Given the description of an element on the screen output the (x, y) to click on. 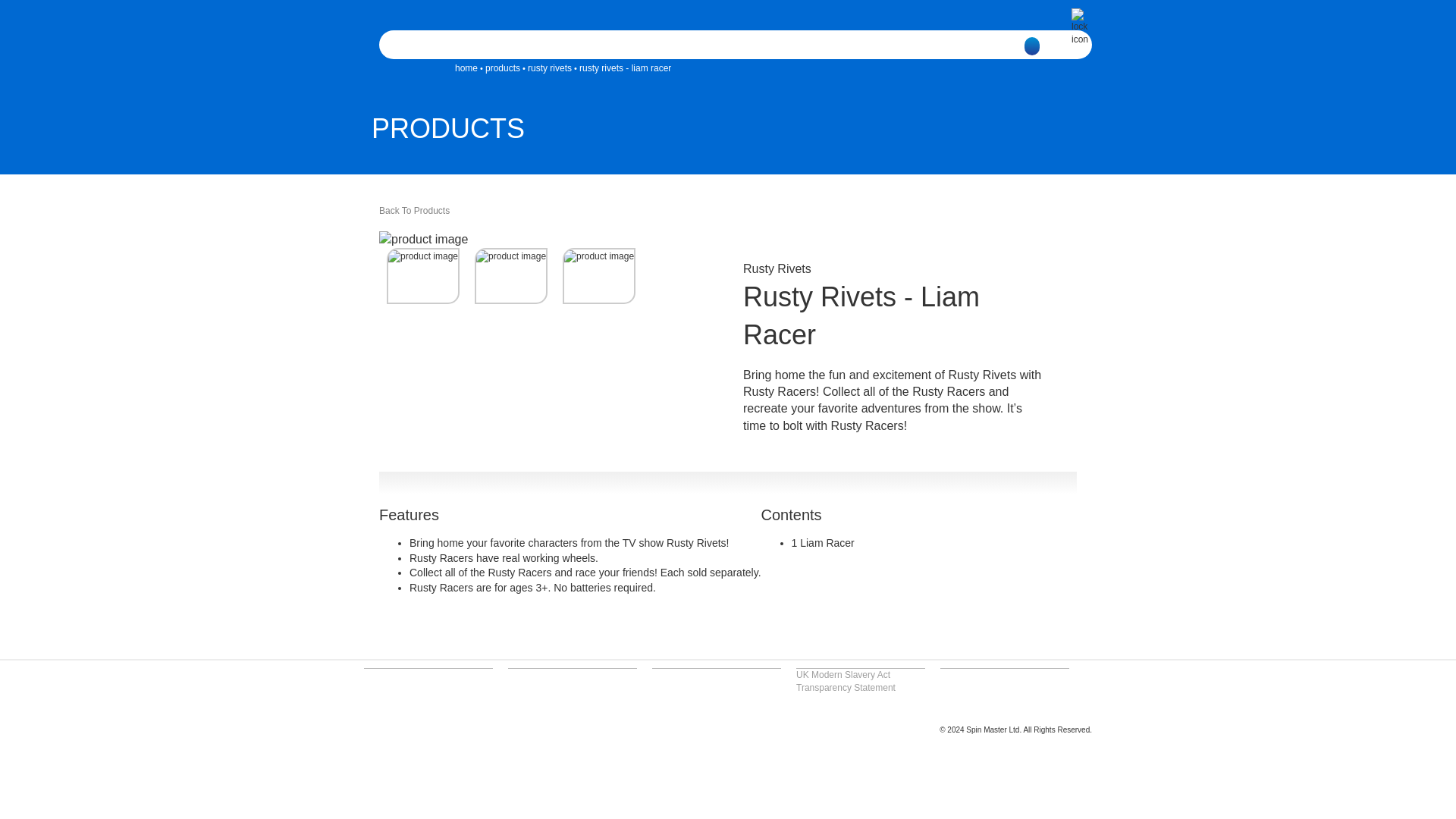
rusty rivets (549, 68)
UK Modern Slavery Act Transparency Statement (845, 680)
products (501, 68)
rusty rivets - liam racer (625, 68)
home (465, 68)
Back To Products (413, 210)
